Given the description of an element on the screen output the (x, y) to click on. 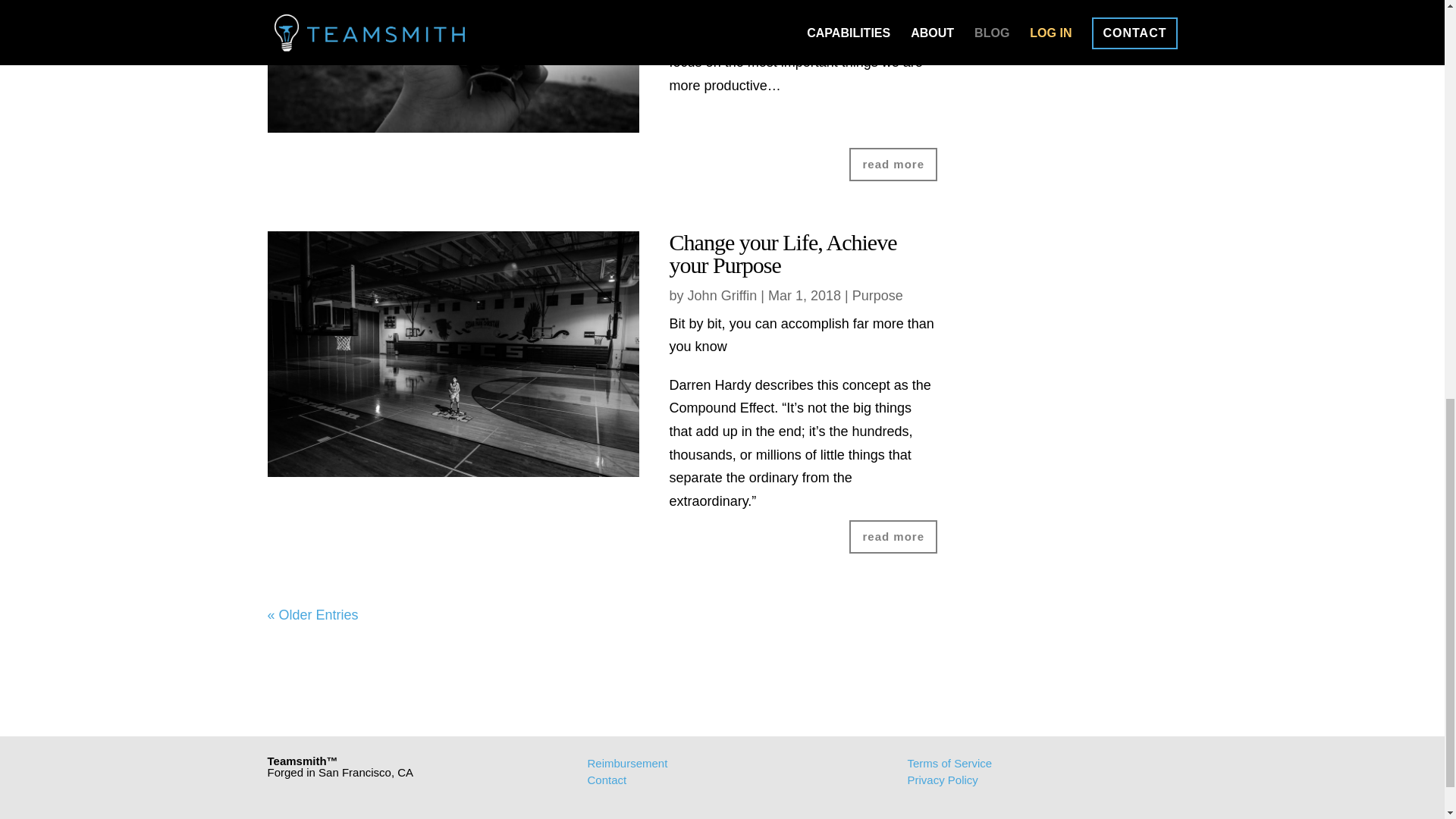
Purpose (876, 295)
Reimbursement (626, 762)
John Griffin (722, 295)
Privacy Policy (941, 779)
Change your Life, Achieve your Purpose (782, 253)
Terms of Service (949, 762)
read more (892, 536)
Posts by John Griffin (722, 295)
Contact (606, 779)
read more (892, 164)
